Given the description of an element on the screen output the (x, y) to click on. 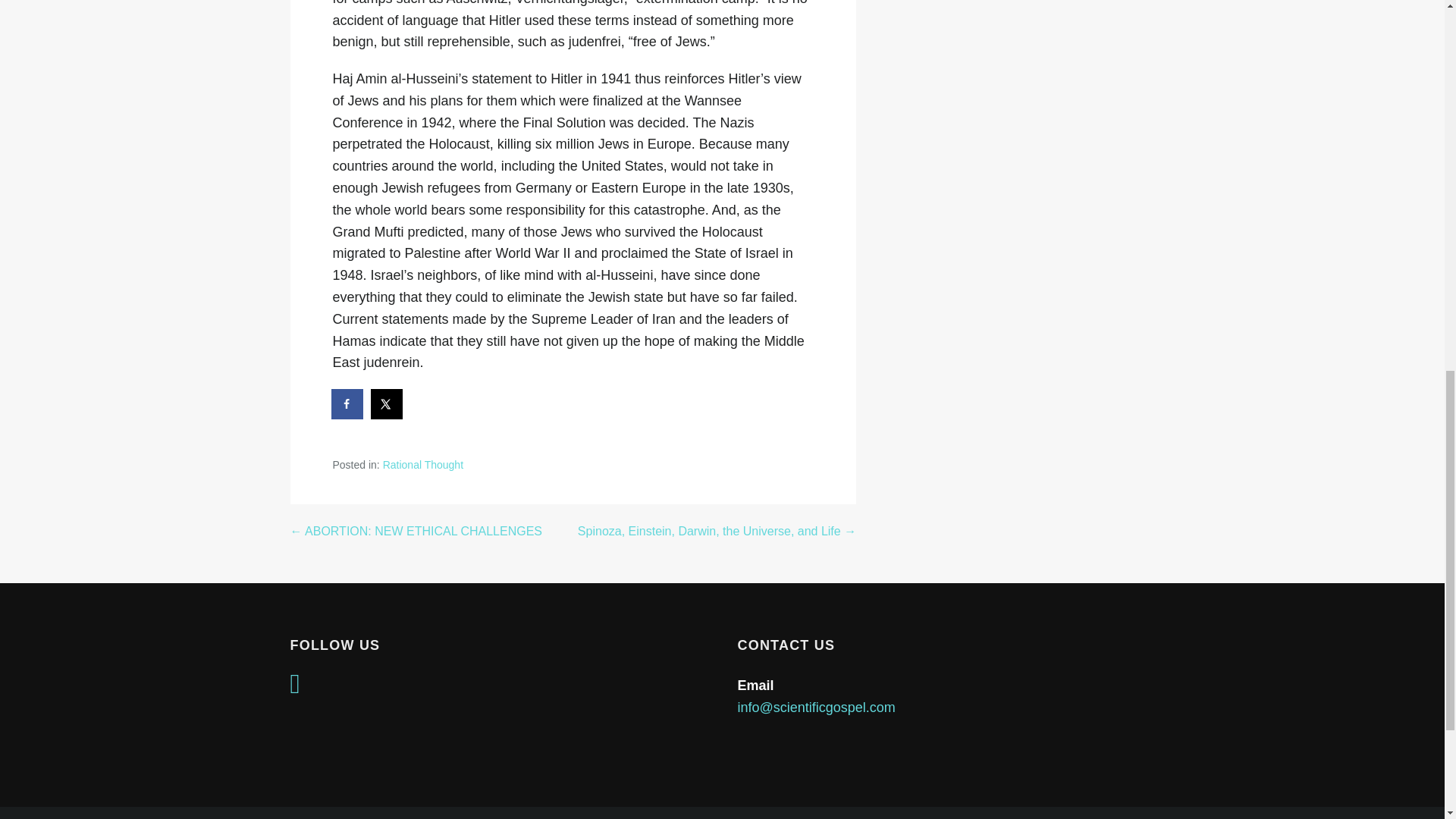
Share on X (387, 404)
Share on Facebook (346, 404)
Rational Thought (422, 464)
